Given the description of an element on the screen output the (x, y) to click on. 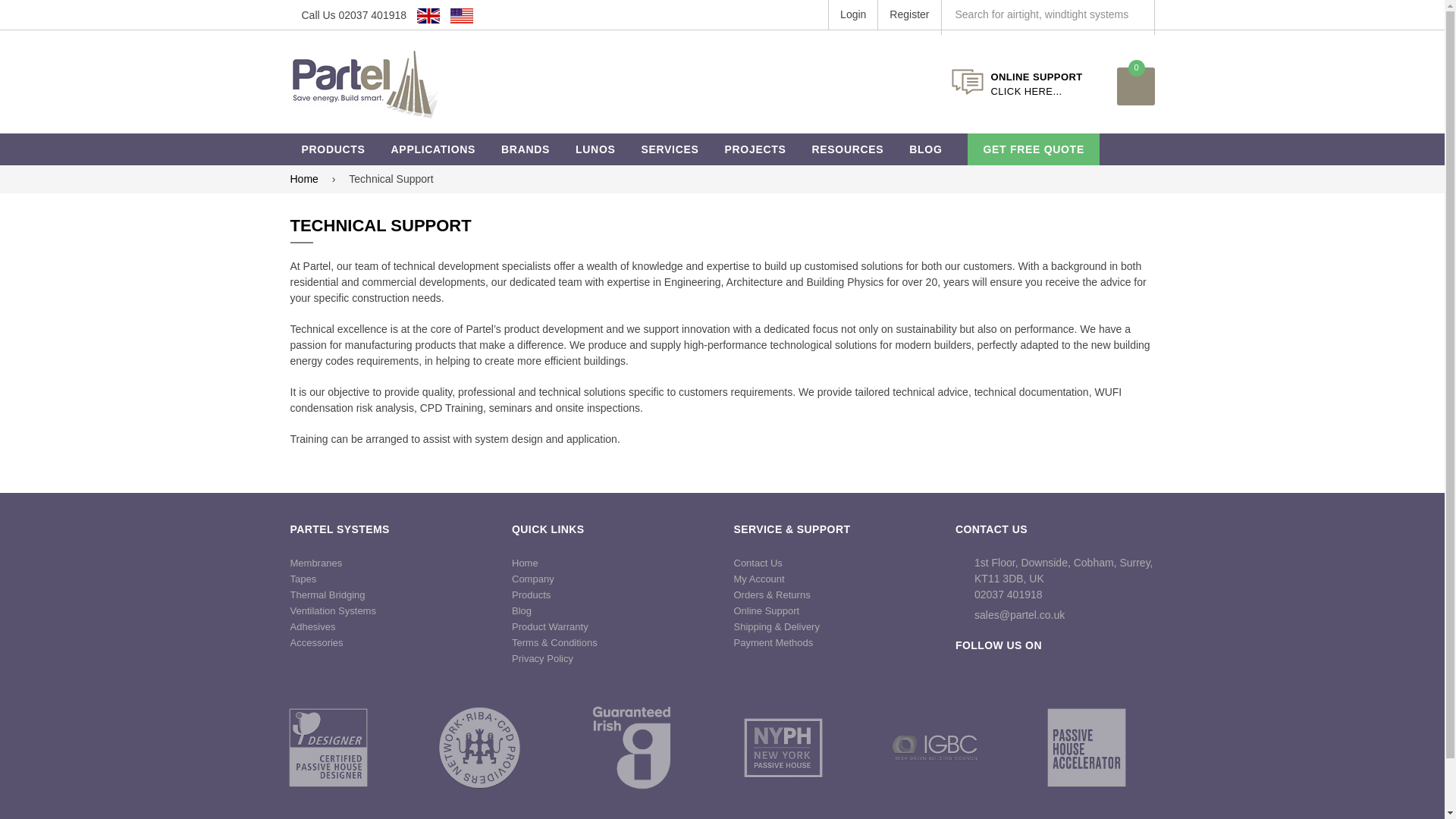
Register (908, 13)
0 (1135, 86)
Back to the home page (306, 179)
Cart (1135, 86)
Visit our Partel UK website (427, 15)
02037 401918 (373, 15)
PRODUCTS (332, 149)
Login (852, 13)
Visit our Partel USA website (464, 15)
